Given the description of an element on the screen output the (x, y) to click on. 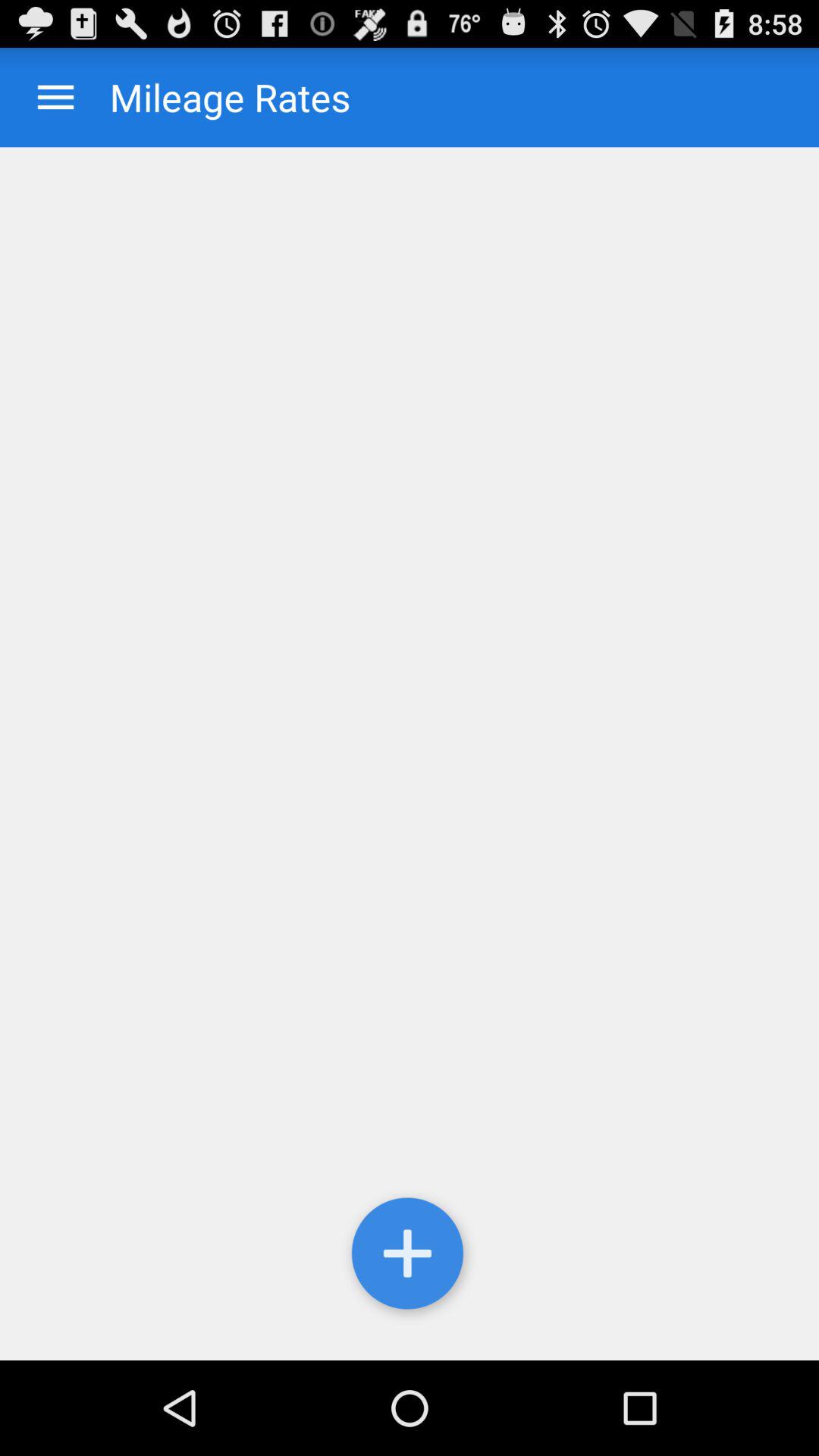
flip until the mileage rates app (214, 96)
